Given the description of an element on the screen output the (x, y) to click on. 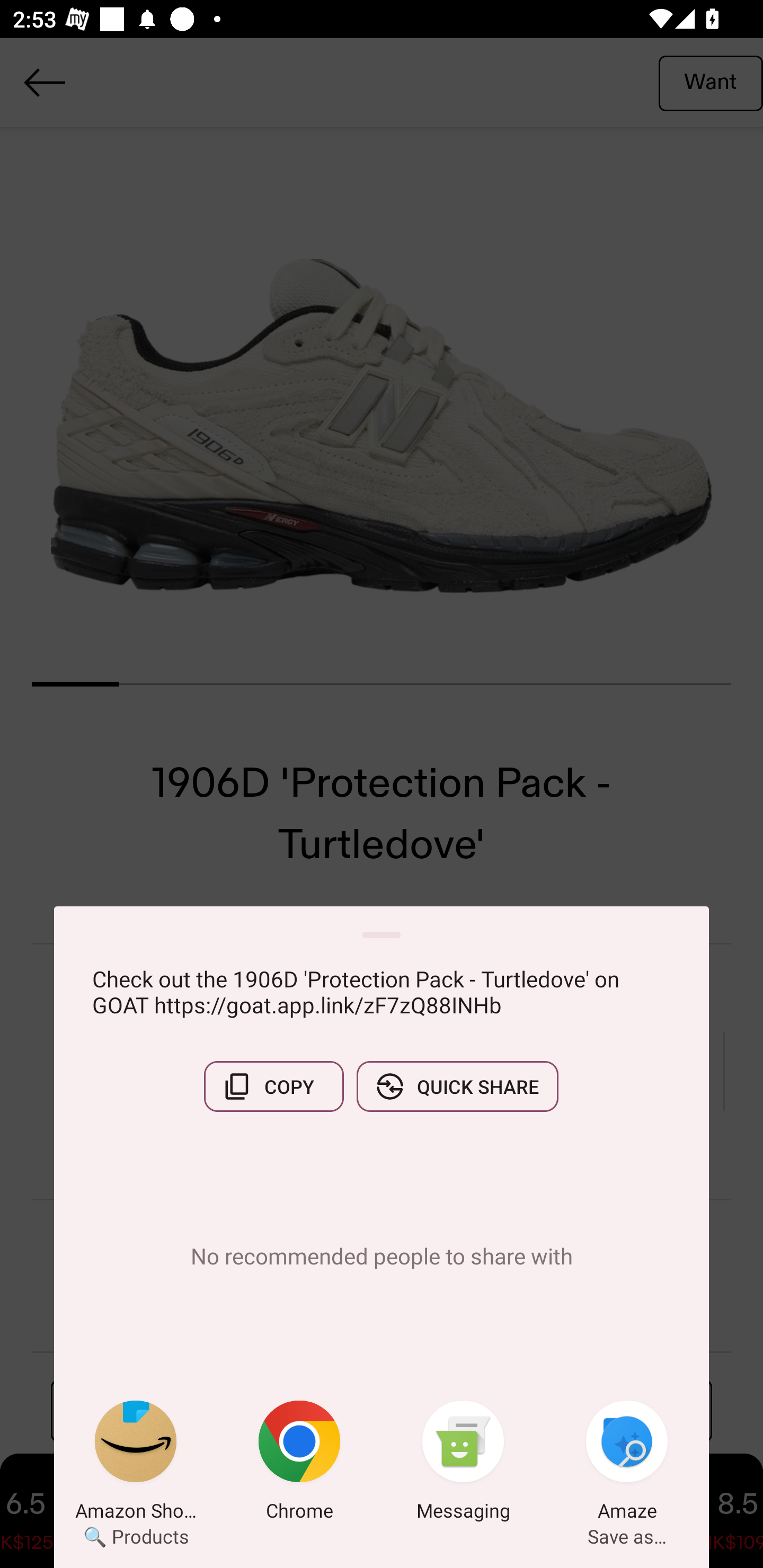
COPY (273, 1086)
QUICK SHARE (457, 1086)
Amazon Shopping 🔍 Products (135, 1463)
Chrome (299, 1463)
Messaging (463, 1463)
Amaze Save as… (626, 1463)
